Given the description of an element on the screen output the (x, y) to click on. 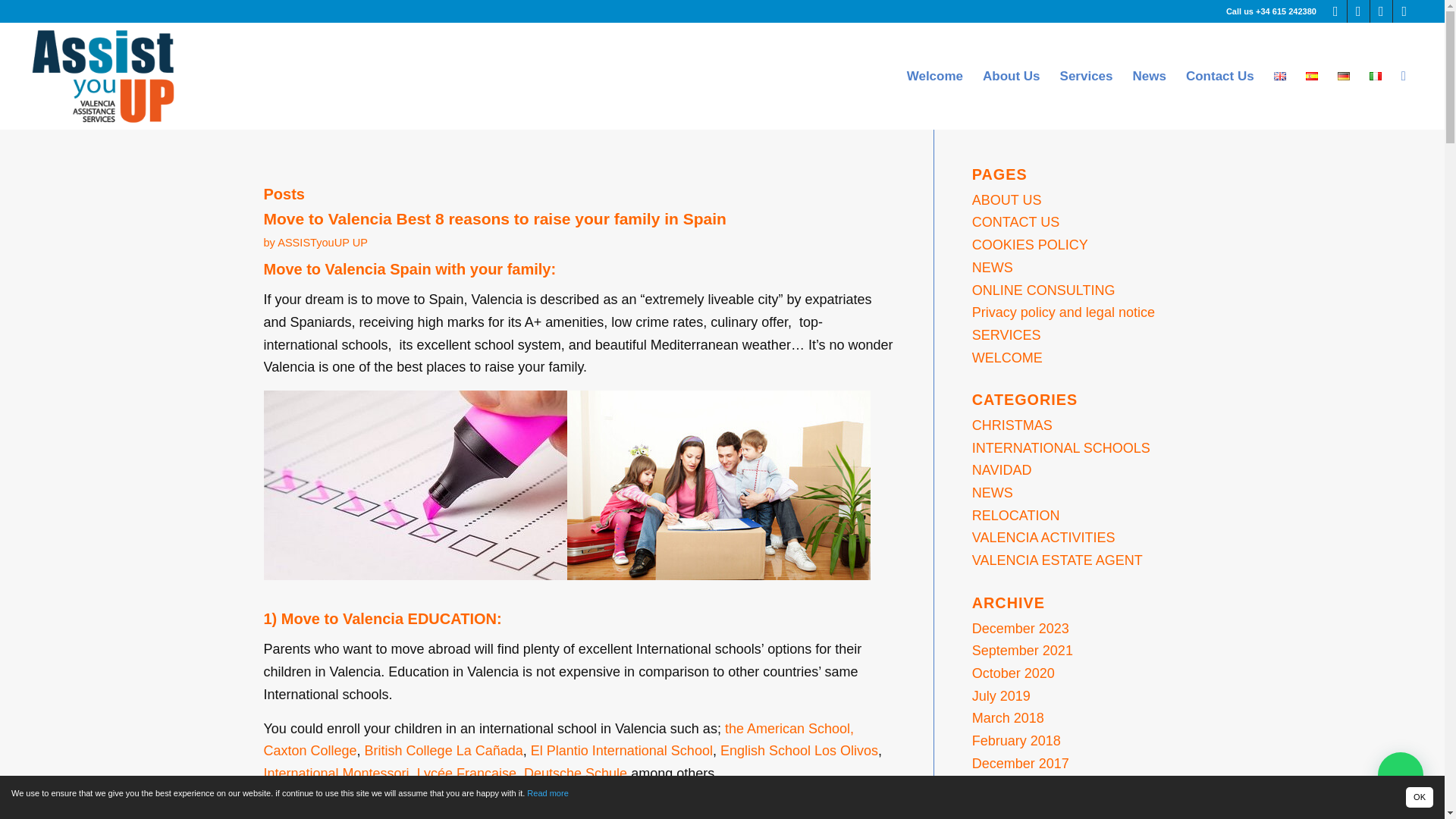
the American School, (789, 728)
Twitter (1359, 11)
Youtube (1404, 11)
ASSISTyouUP UP (323, 242)
Facebook (1335, 11)
Posts by ASSISTyouUP UP (323, 242)
International Montessori (336, 773)
Reasons to Move to Valencia (415, 484)
English School Los Olivos (798, 750)
LinkedIn (1380, 11)
